Given the description of an element on the screen output the (x, y) to click on. 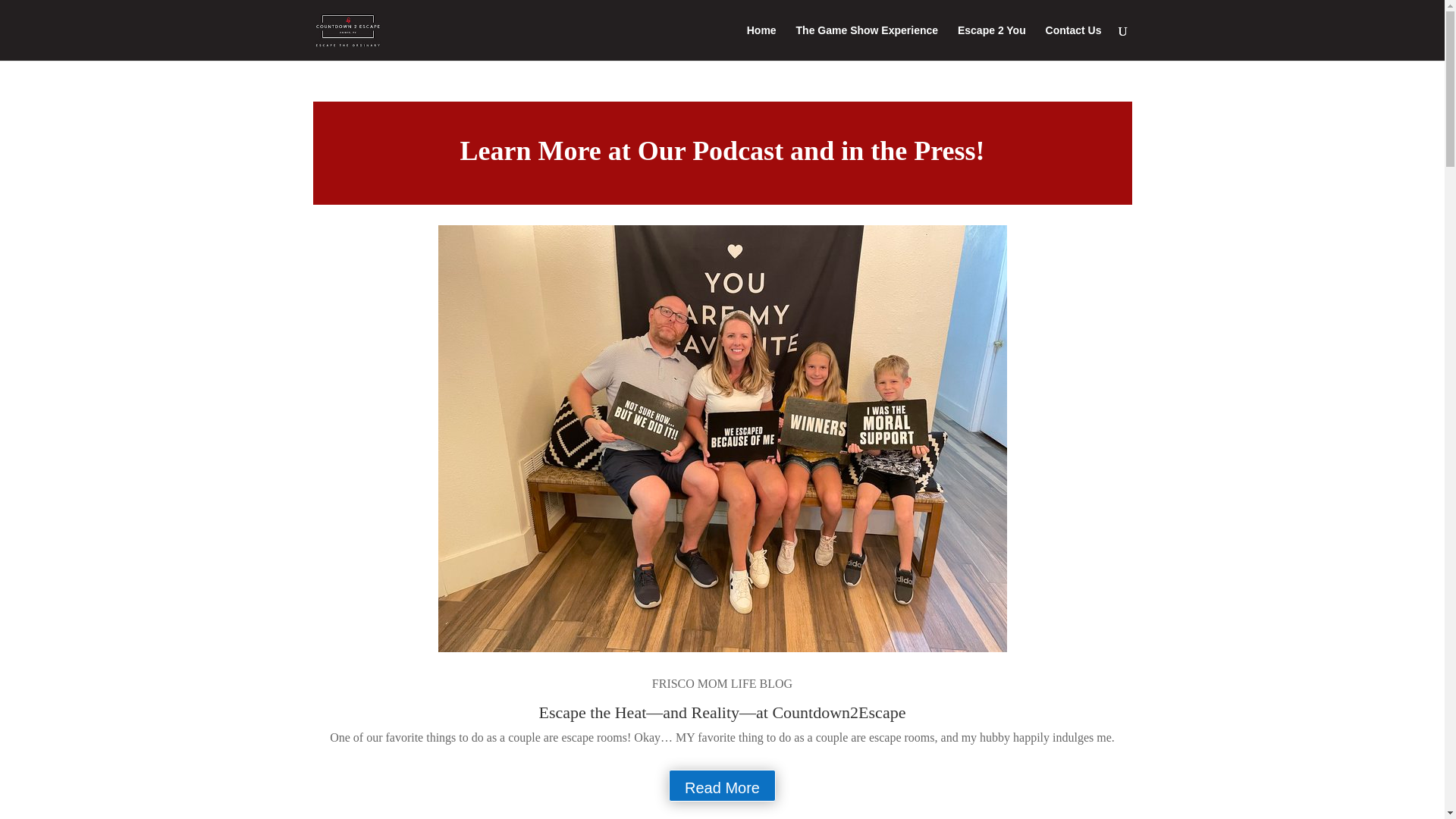
Contact Us (1073, 42)
Escape 2 You (992, 42)
The Game Show Experience (867, 42)
Read More (722, 785)
